Given the description of an element on the screen output the (x, y) to click on. 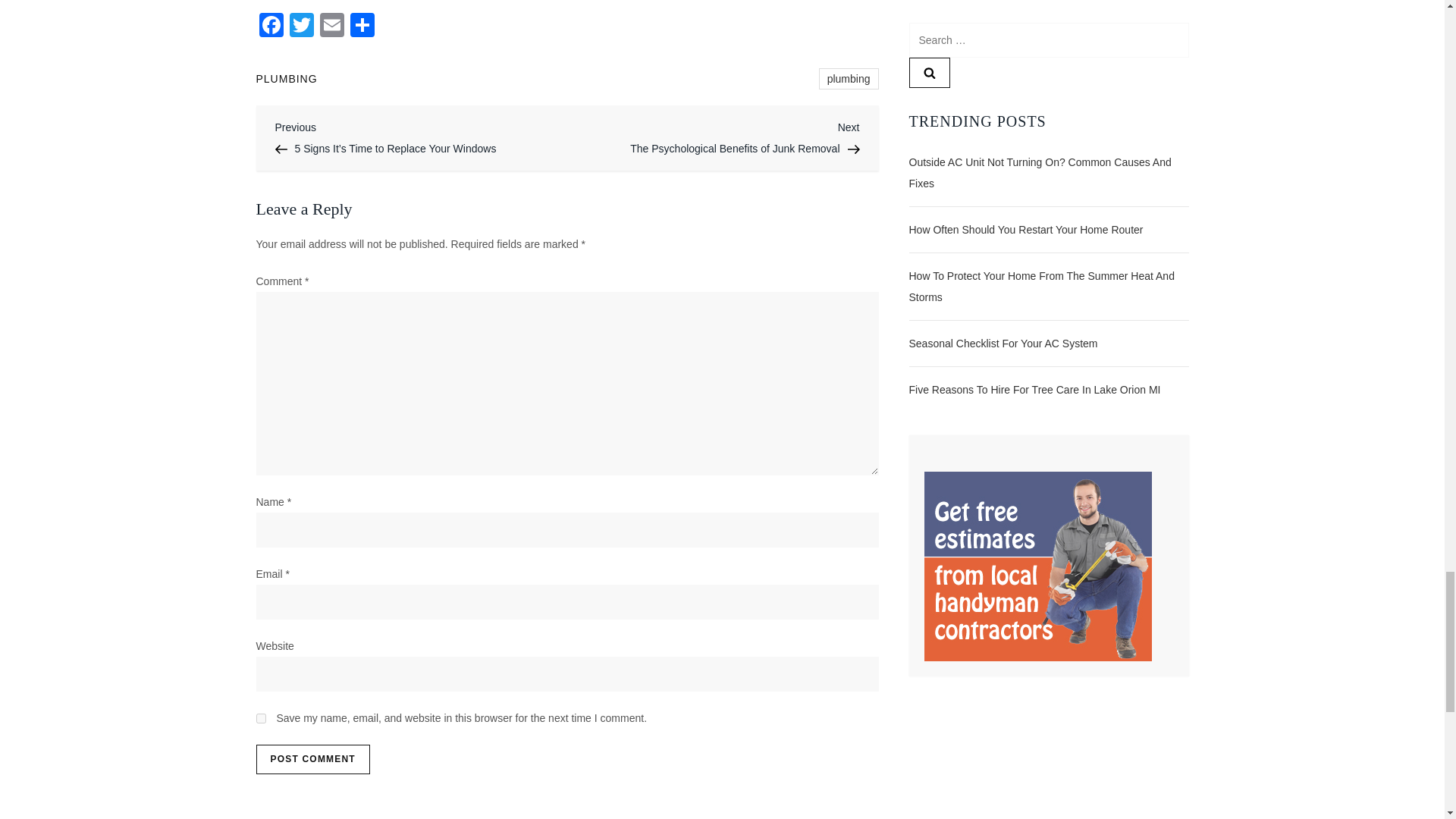
Twitter (301, 26)
Email (332, 26)
Email (332, 26)
Post Comment (312, 759)
Facebook (713, 135)
Facebook (271, 26)
Post Comment (271, 26)
Twitter (312, 759)
PLUMBING (301, 26)
plumbing (286, 78)
yes (848, 78)
Share (261, 718)
